Given the description of an element on the screen output the (x, y) to click on. 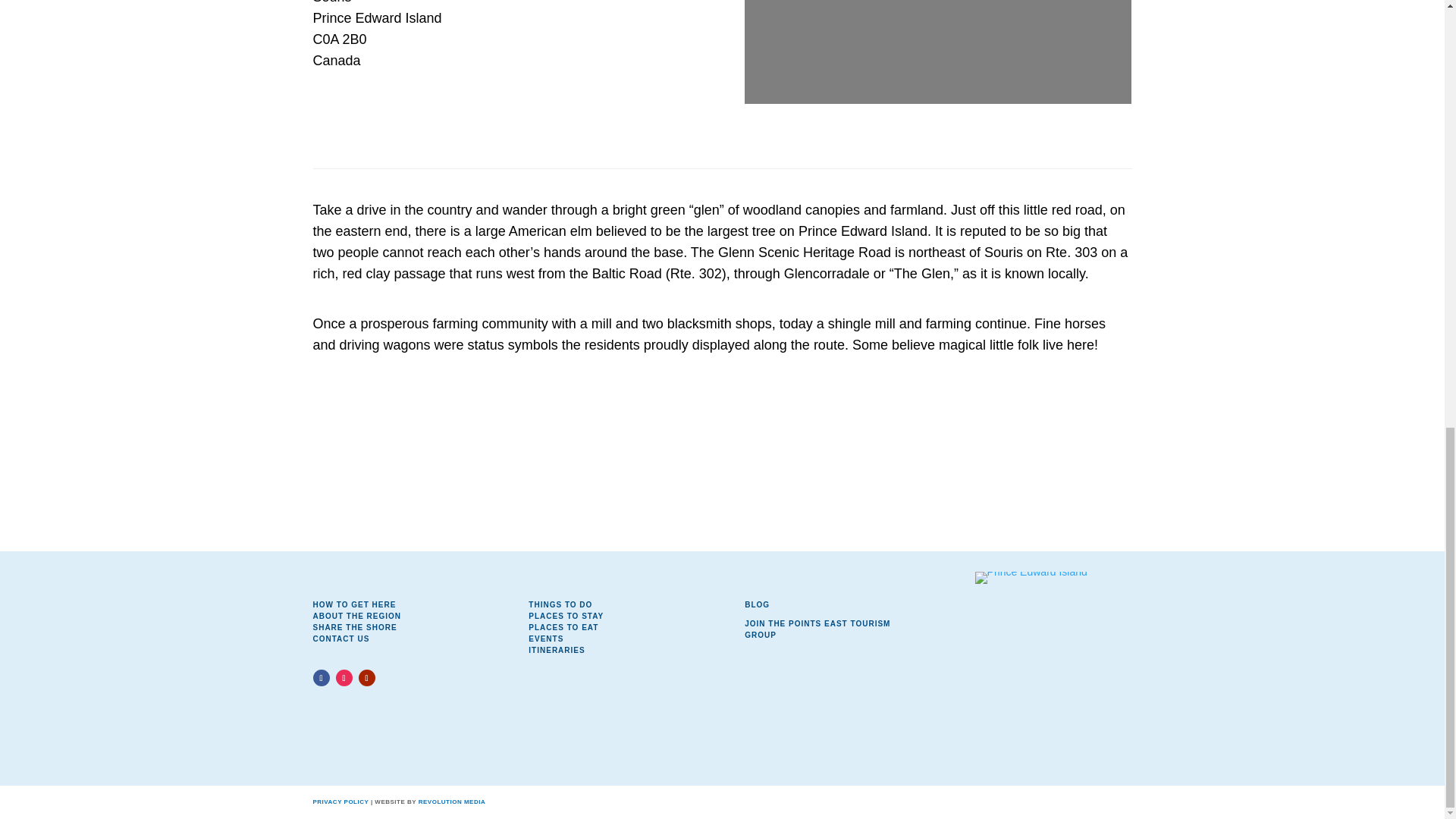
CONTACT US (341, 638)
SHARE THE SHORE (354, 627)
PLACES TO EAT (563, 627)
BLOG (757, 604)
EVENTS (545, 638)
PLACES TO STAY (566, 615)
Follow on Youtube (366, 677)
JOIN THE POINTS EAST TOURISM GROUP (816, 629)
ITINERARIES (556, 650)
Follow on Facebook (321, 677)
